Given the description of an element on the screen output the (x, y) to click on. 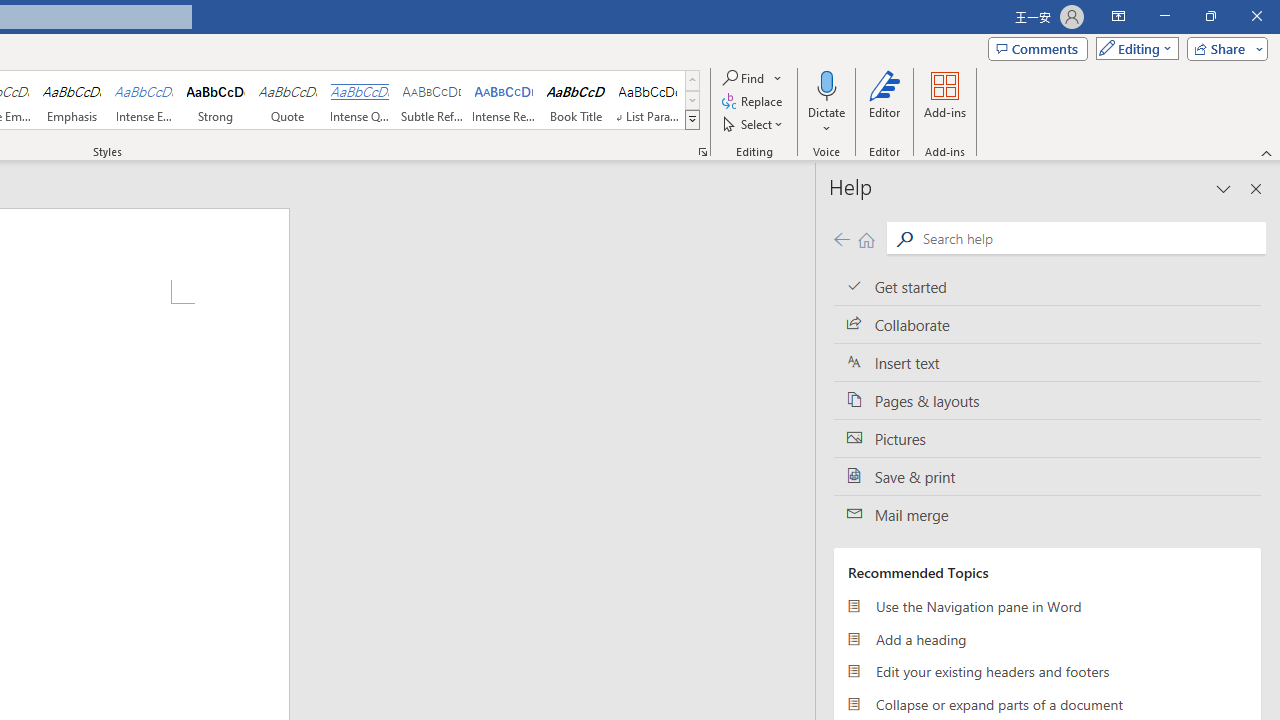
Mail merge (1047, 515)
Pages & layouts (1047, 400)
Collapse or expand parts of a document (1047, 704)
